Given the description of an element on the screen output the (x, y) to click on. 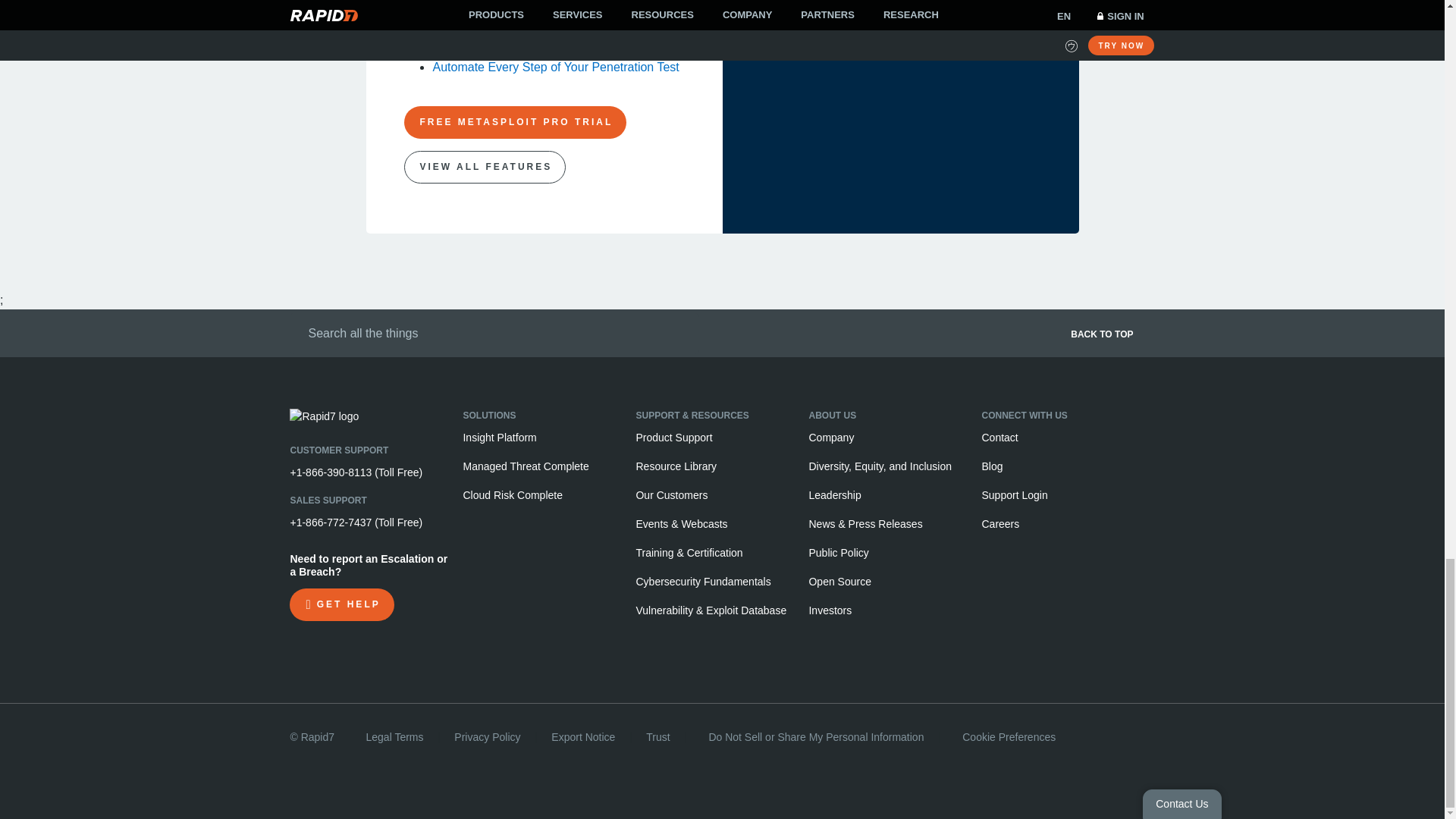
BACK TO TOP (949, 338)
Submit Search (294, 330)
Submit Search (294, 330)
